Given the description of an element on the screen output the (x, y) to click on. 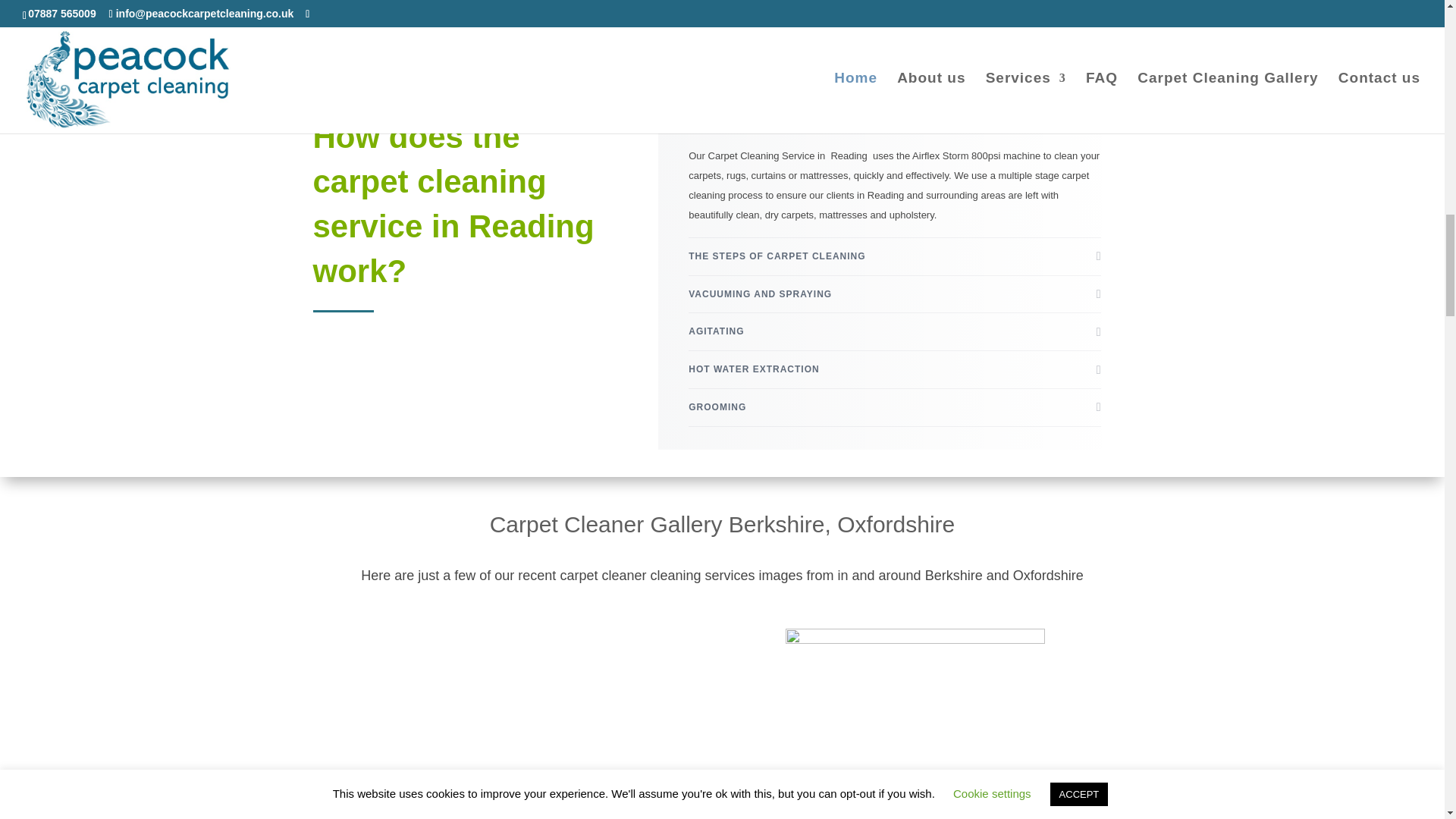
professional carpet cleaning reading (587, 808)
Carpet Cleaner Reading November 2022 (260, 808)
Newbury rug 1 before (915, 639)
Carpet Cleaner Reading November 2022 (1243, 808)
